Given the description of an element on the screen output the (x, y) to click on. 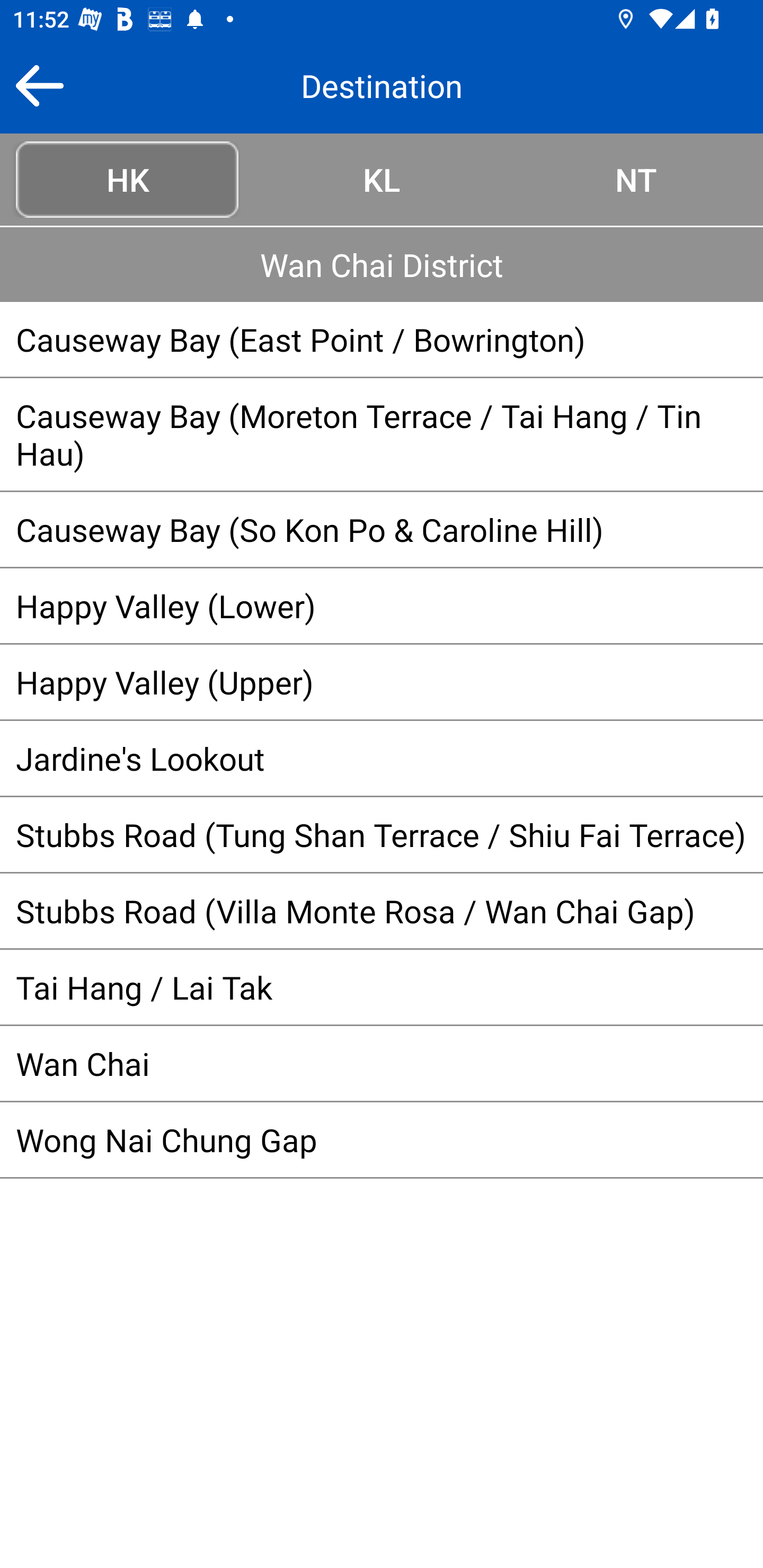
Back (39, 85)
HK (127, 179)
KL (381, 179)
NT (635, 179)
Wan Chai District (381, 263)
Causeway Bay (East Point / Bowrington) (381, 339)
Causeway Bay (So Kon Po & Caroline Hill) (381, 529)
Happy Valley (Lower) (381, 604)
Happy Valley (Upper) (381, 681)
Jardine's Lookout (381, 757)
Stubbs Road (Tung Shan Terrace / Shiu Fai Terrace) (381, 833)
Stubbs Road (Villa Monte Rosa / Wan Chai Gap) (381, 910)
Tai Hang / Lai Tak (381, 986)
Wan Chai (381, 1062)
Wong Nai Chung Gap (381, 1139)
